Given the description of an element on the screen output the (x, y) to click on. 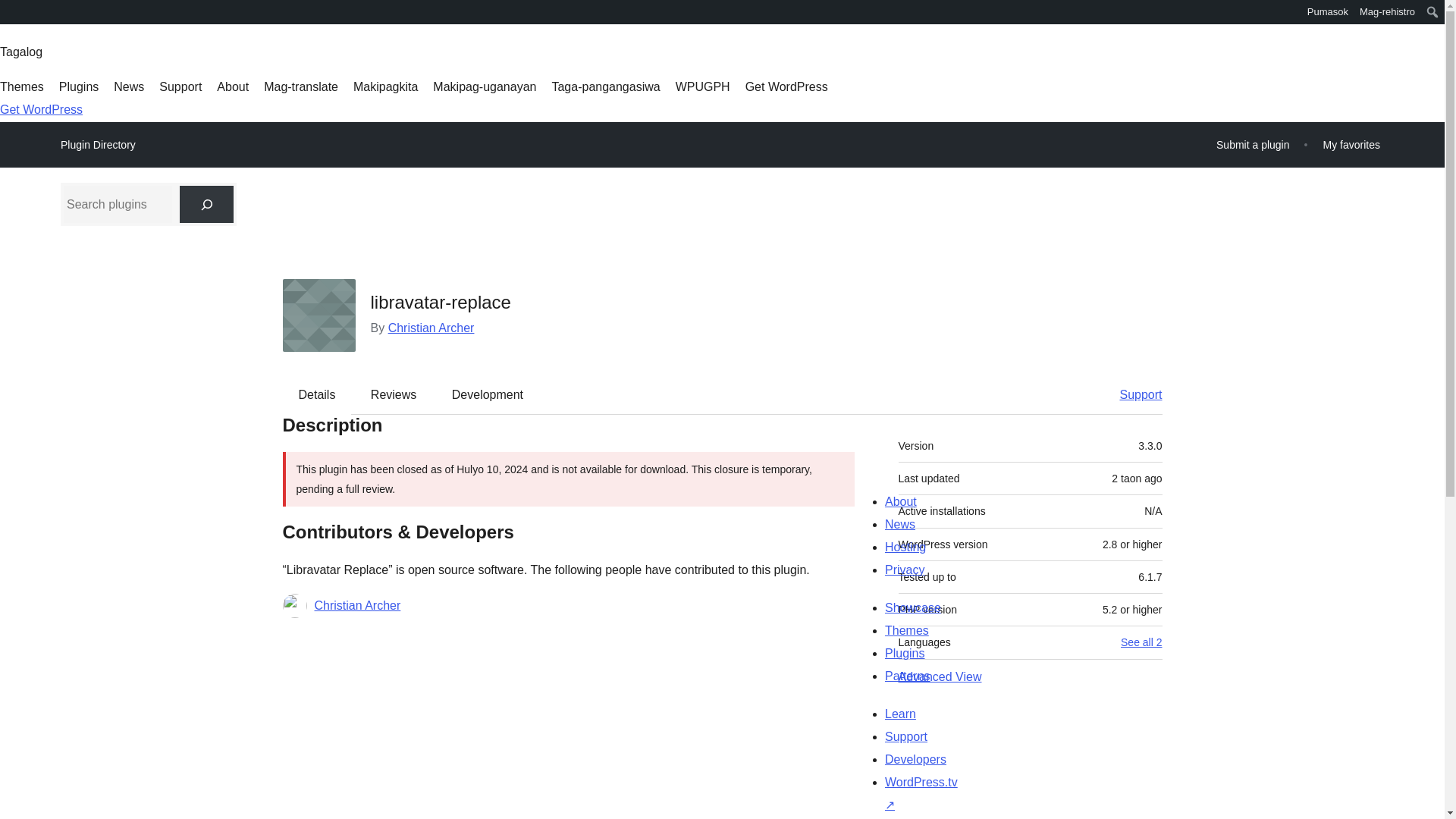
Plugin Directory (97, 144)
Development (487, 394)
Themes (21, 87)
Pumasok (1327, 12)
Support (180, 87)
Mag-translate (300, 87)
Support (1132, 394)
Submit a plugin (1253, 144)
Plugins (79, 87)
News (128, 87)
